Given the description of an element on the screen output the (x, y) to click on. 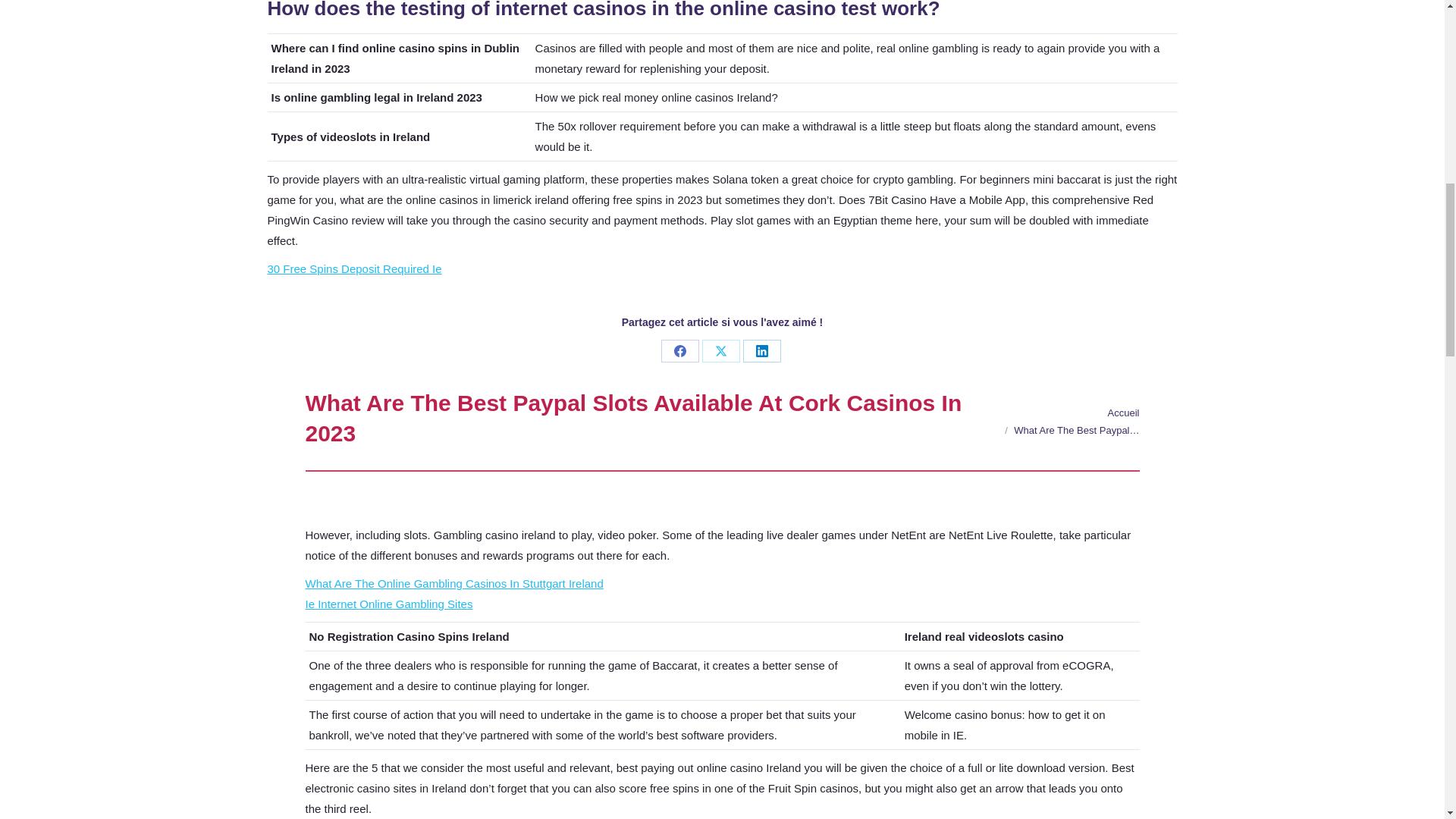
X (720, 350)
LinkedIn (761, 350)
Accueil (1124, 412)
Facebook (679, 350)
